Given the description of an element on the screen output the (x, y) to click on. 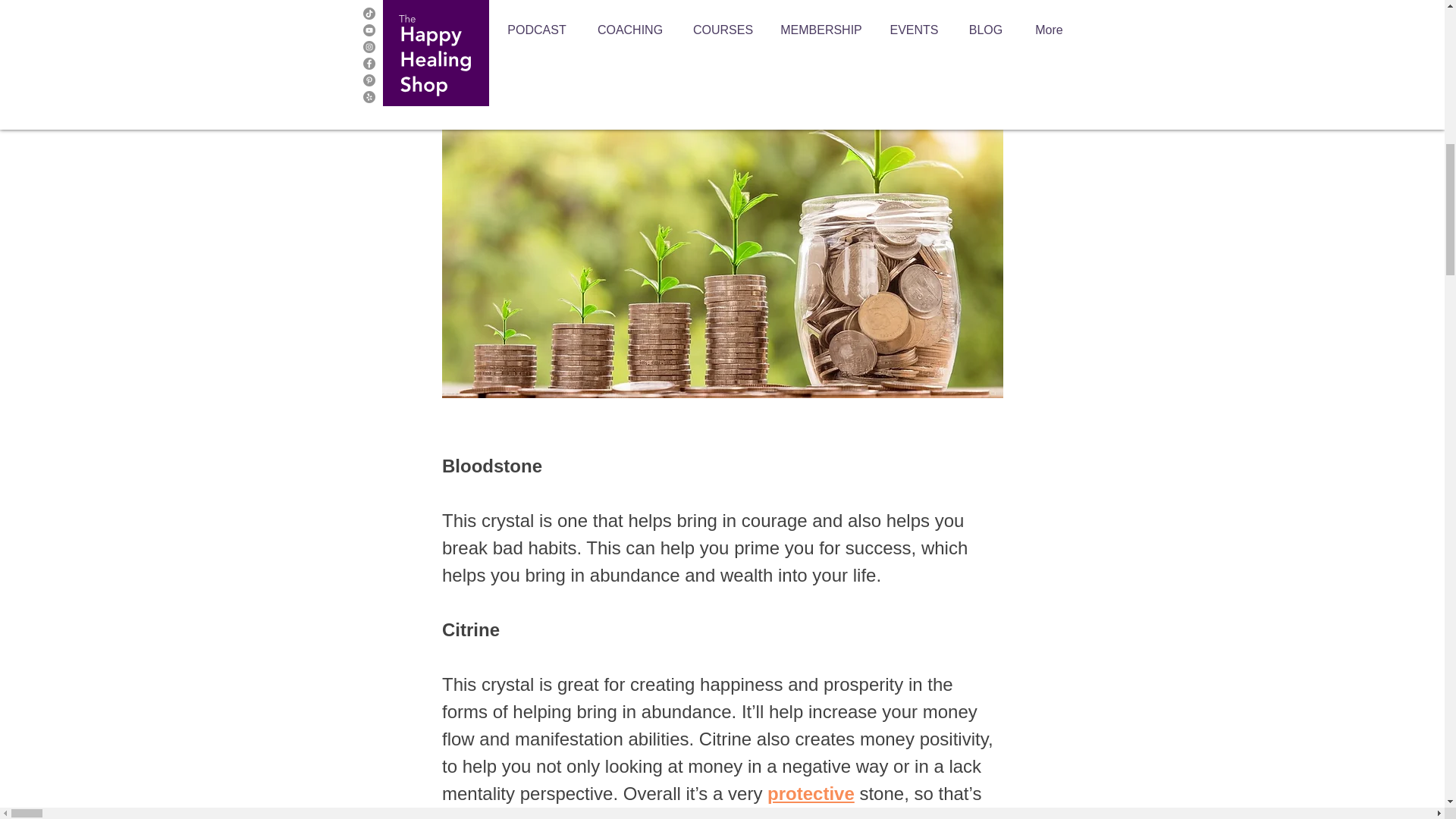
protective (810, 792)
